Given the description of an element on the screen output the (x, y) to click on. 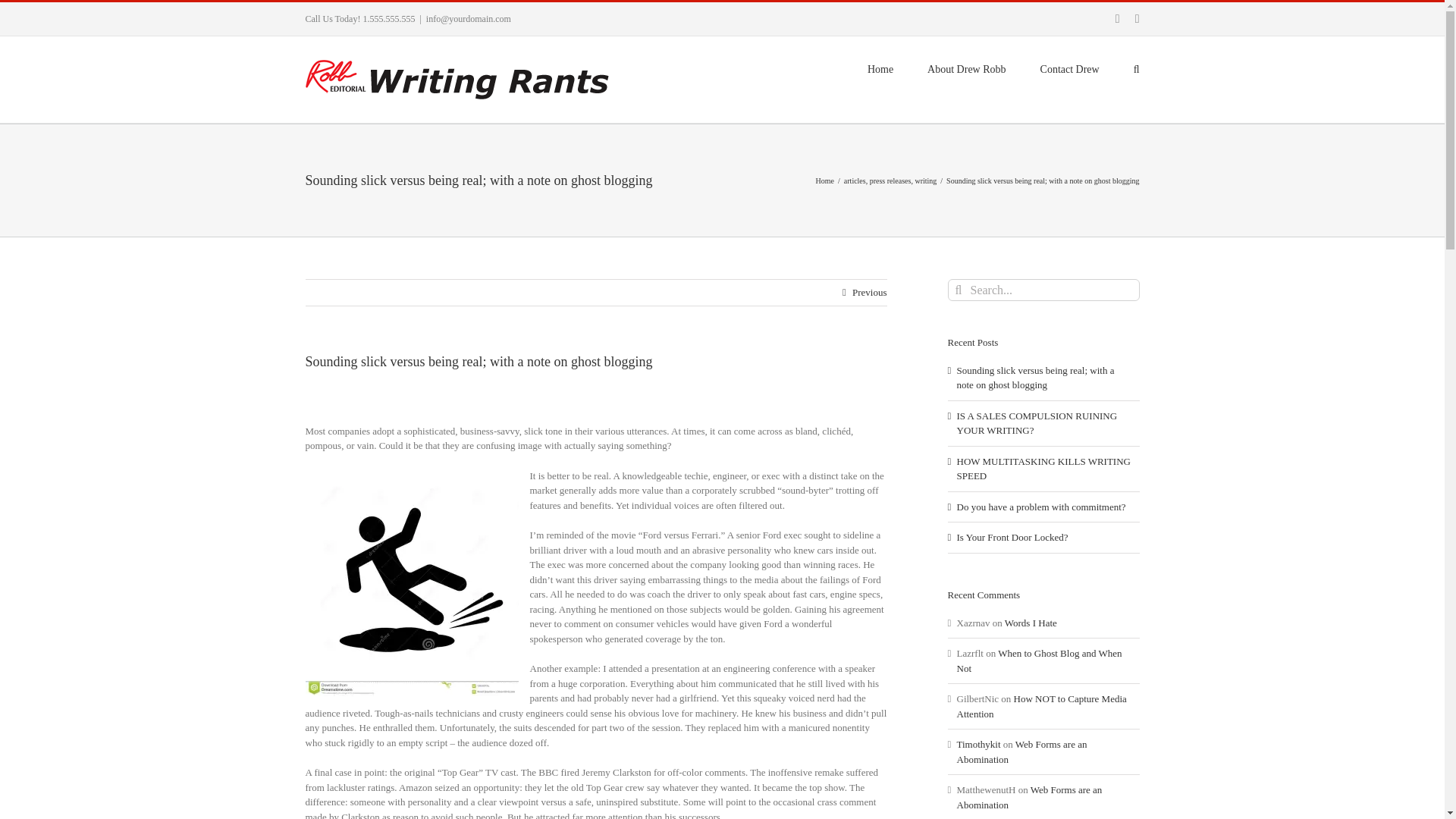
press releases (890, 180)
writing (925, 180)
articles (855, 180)
About Drew Robb (966, 67)
Home (824, 180)
Contact Drew (1070, 67)
Previous (868, 292)
